Given the description of an element on the screen output the (x, y) to click on. 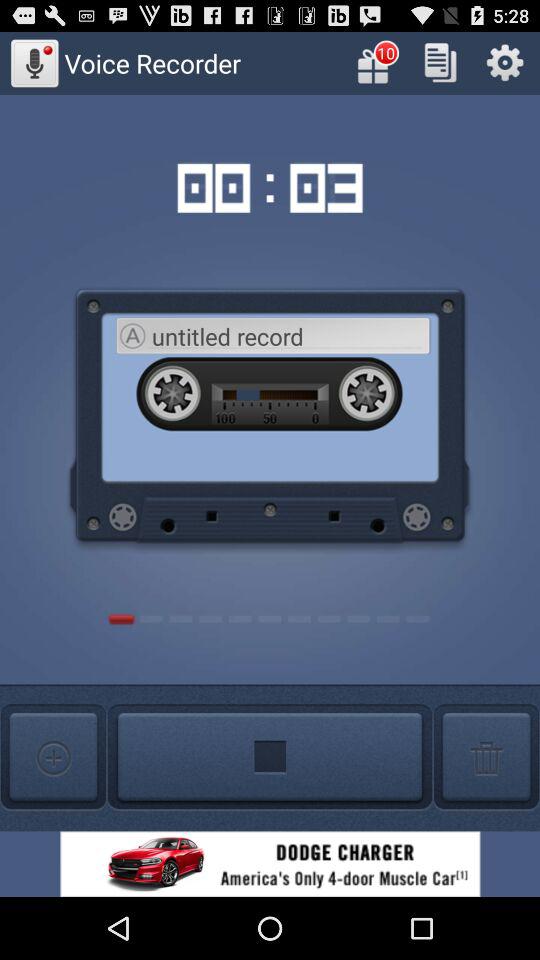
copy selected item (440, 62)
